Given the description of an element on the screen output the (x, y) to click on. 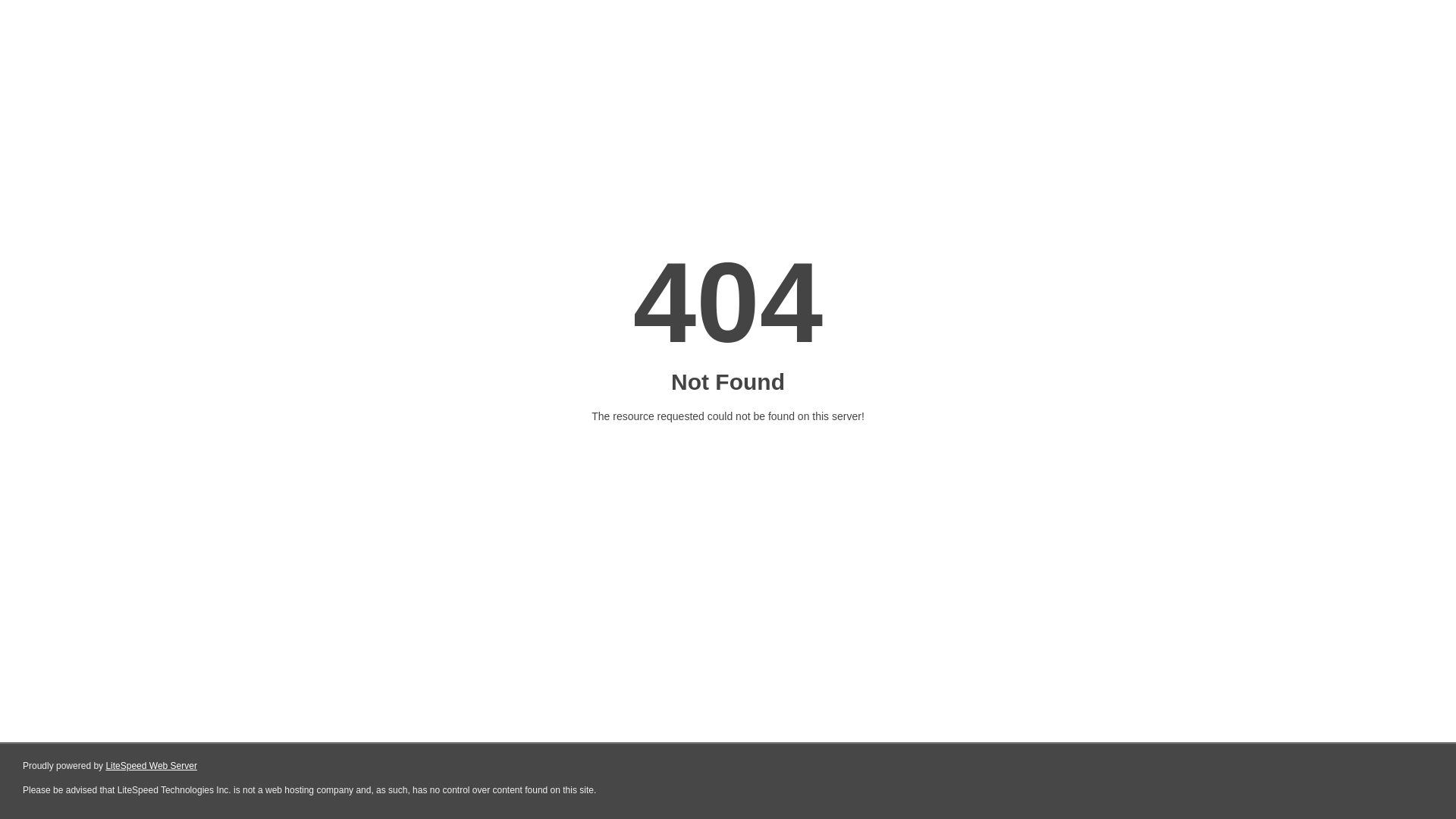
LiteSpeed Web Server Element type: text (151, 765)
